Given the description of an element on the screen output the (x, y) to click on. 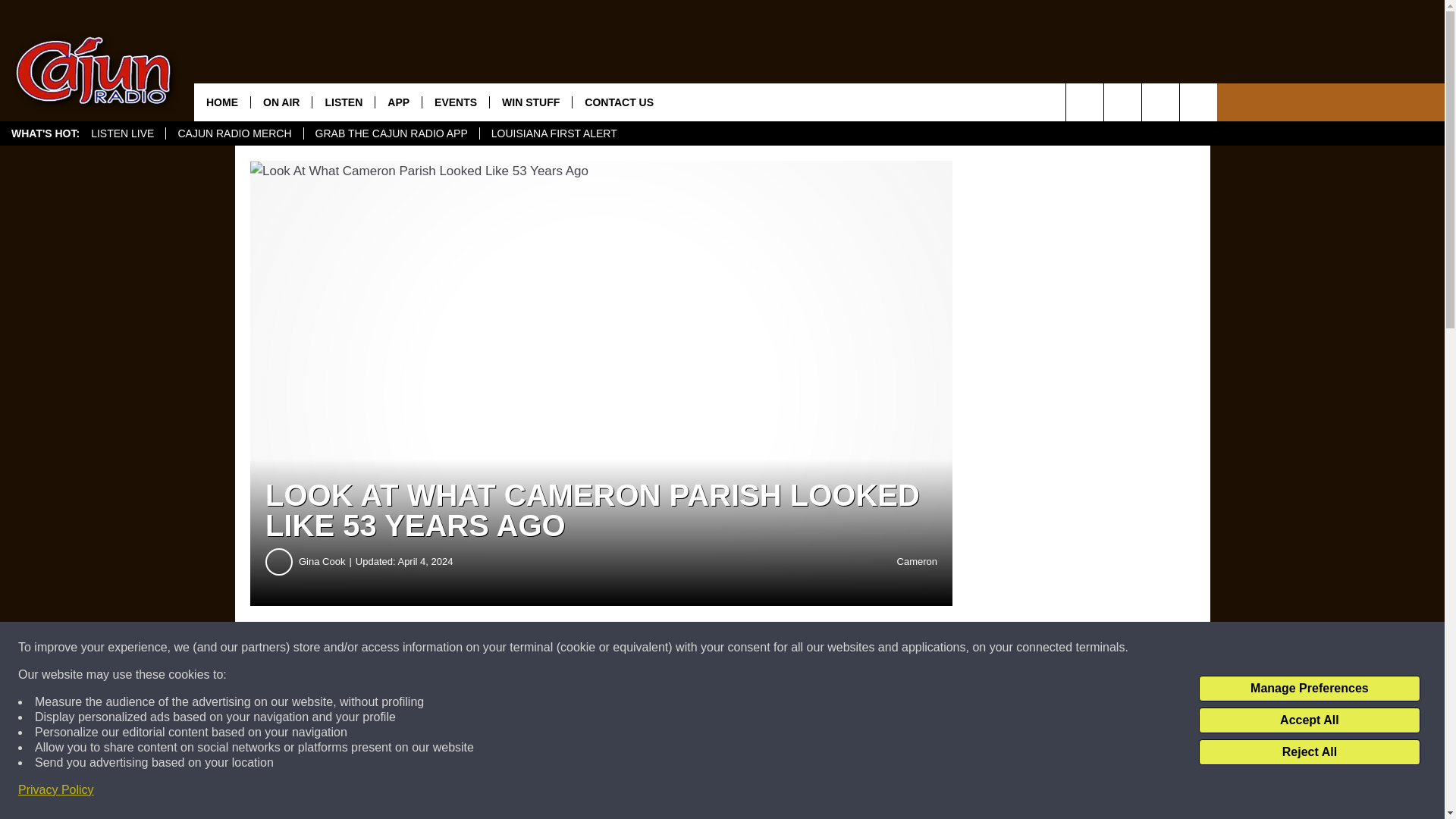
APP (398, 102)
WIN STUFF (530, 102)
GRAB THE CAJUN RADIO APP (390, 133)
LISTEN LIVE (122, 133)
ON AIR (280, 102)
Share on Twitter (741, 647)
Share on Facebook (460, 647)
HOME (221, 102)
CONTACT US (618, 102)
Privacy Policy (55, 789)
